Given the description of an element on the screen output the (x, y) to click on. 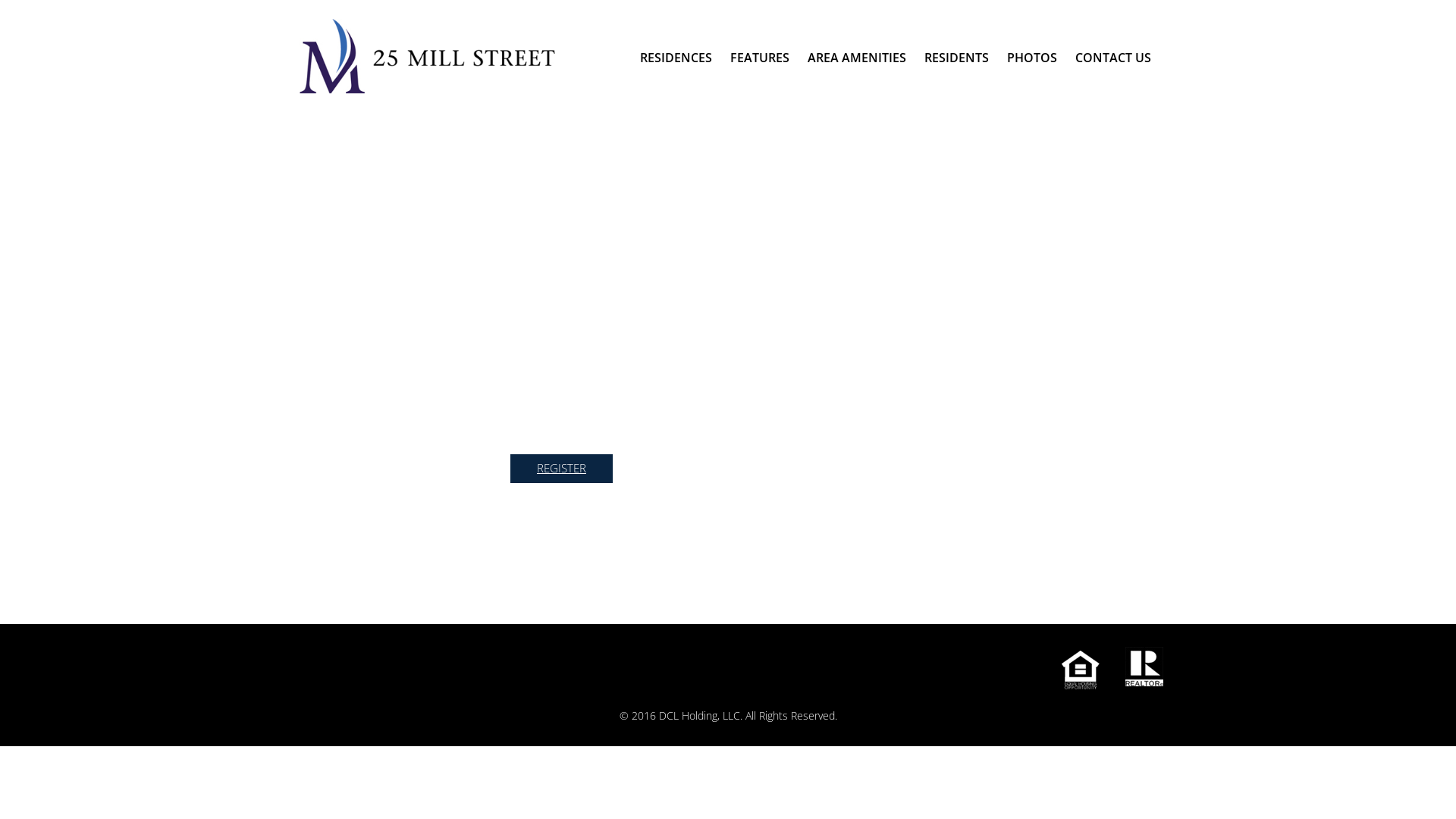
REGISTER Element type: text (561, 468)
RESIDENCES Element type: text (675, 57)
FEATURES Element type: text (759, 57)
RESIDENTS Element type: text (956, 57)
AREA AMENITIES Element type: text (856, 57)
CONTACT US Element type: text (1113, 57)
PHOTOS Element type: text (1031, 57)
